Given the description of an element on the screen output the (x, y) to click on. 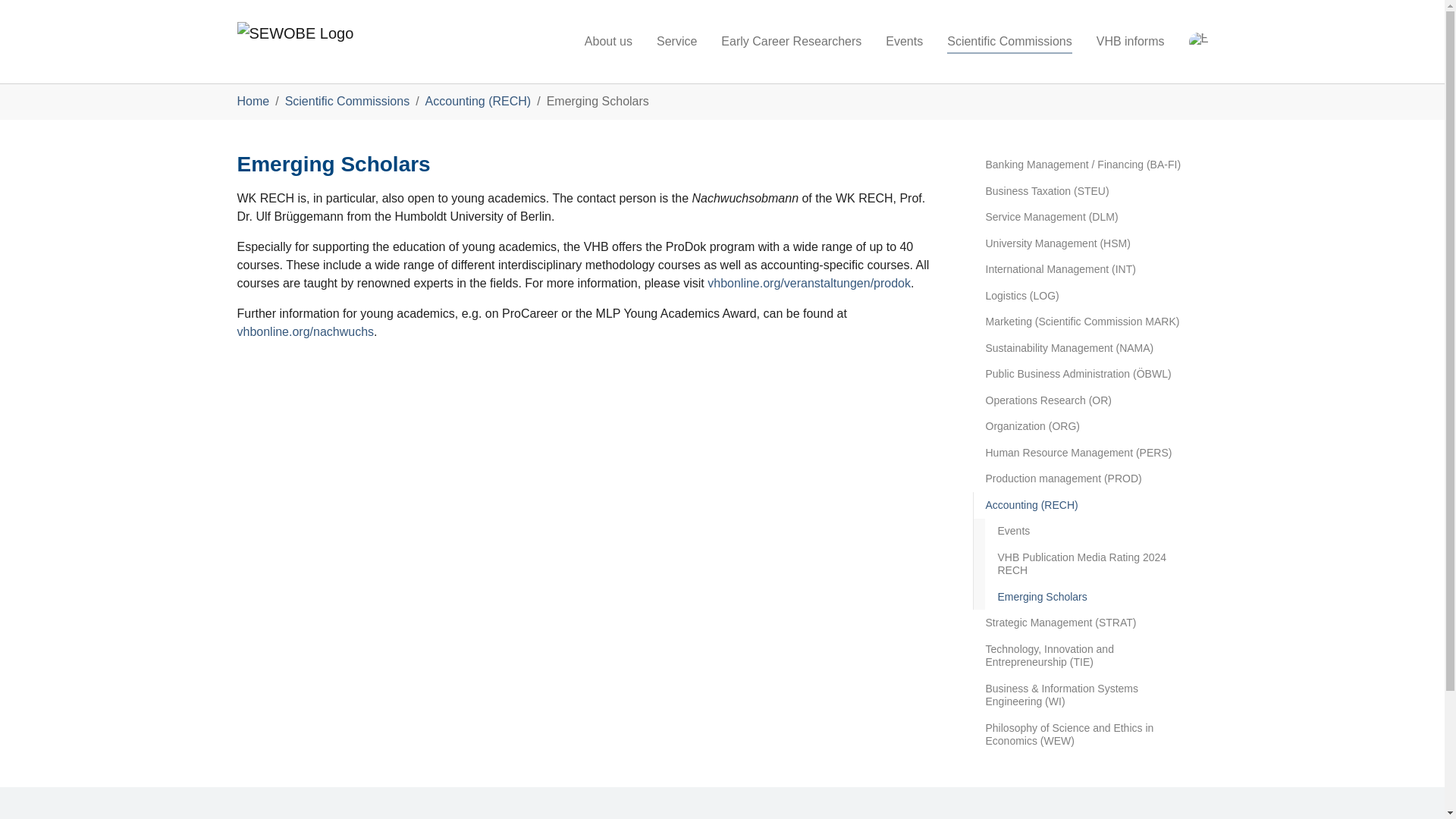
About us (608, 40)
Service (677, 40)
Scientific Commissions (1008, 40)
About us (608, 40)
Zur Startseite weiterleiten (303, 41)
Service (677, 40)
Early Career Researchers (791, 40)
Events (903, 40)
Early Career Researchers (791, 40)
Events (903, 40)
